Given the description of an element on the screen output the (x, y) to click on. 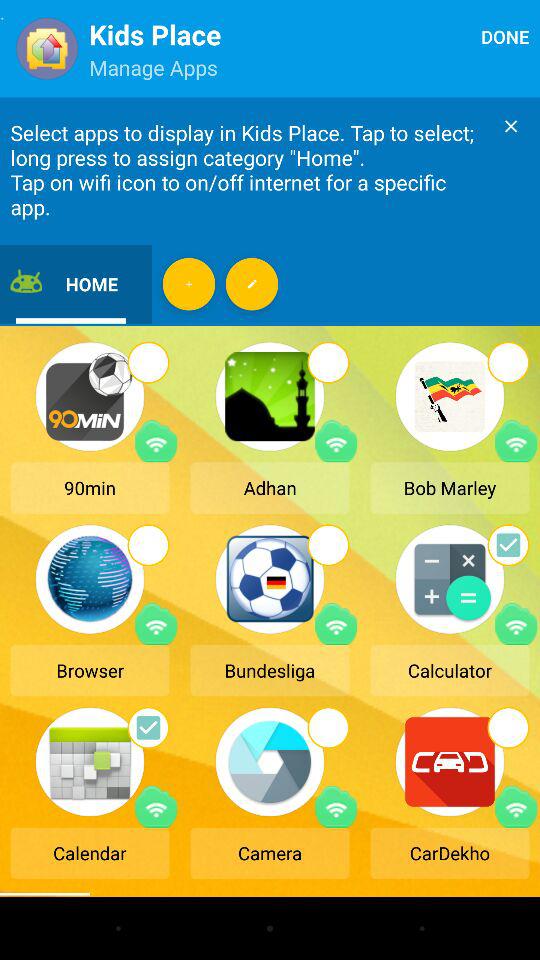
activate internet for that specific app (336, 806)
